Given the description of an element on the screen output the (x, y) to click on. 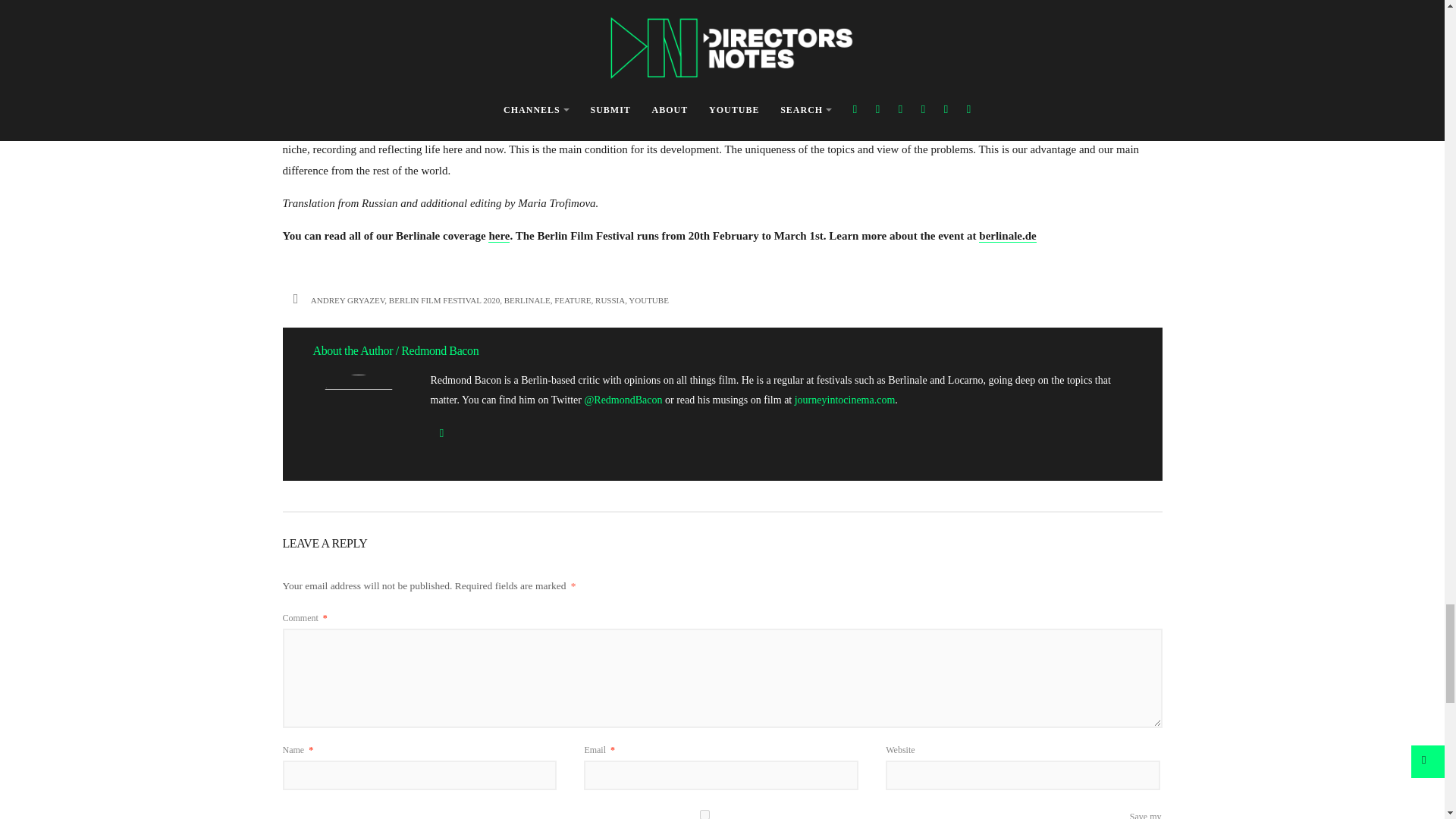
BERLIN FILM FESTIVAL 2020 (443, 299)
BERLINALE (526, 299)
FEATURE (572, 299)
journeyintocinema.com (844, 399)
RUSSIA (609, 299)
berlinale.de (1006, 236)
Redmond Bacon (440, 350)
here (498, 236)
Posts by Redmond Bacon (440, 350)
